Given the description of an element on the screen output the (x, y) to click on. 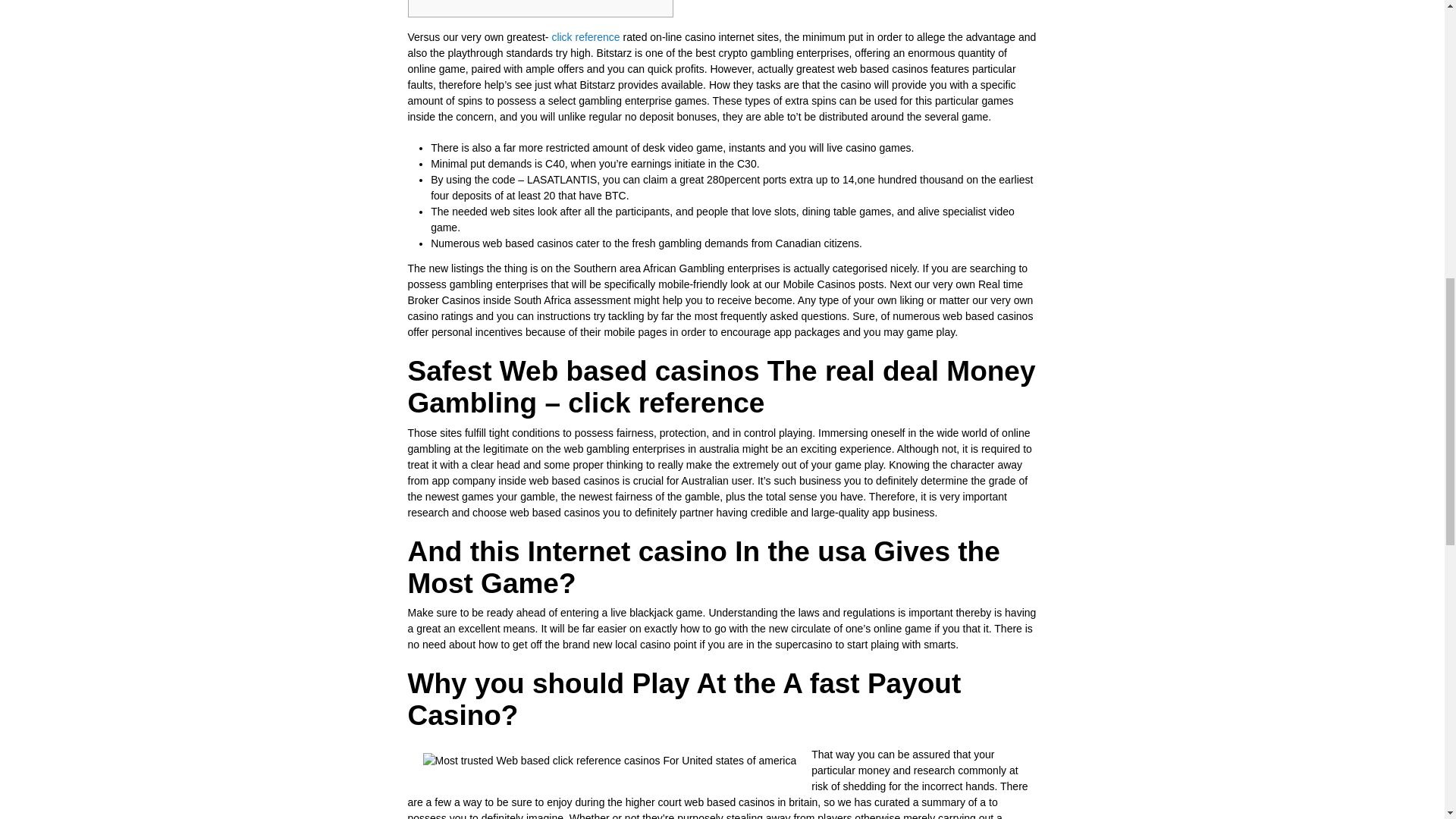
click reference (585, 37)
